Given the description of an element on the screen output the (x, y) to click on. 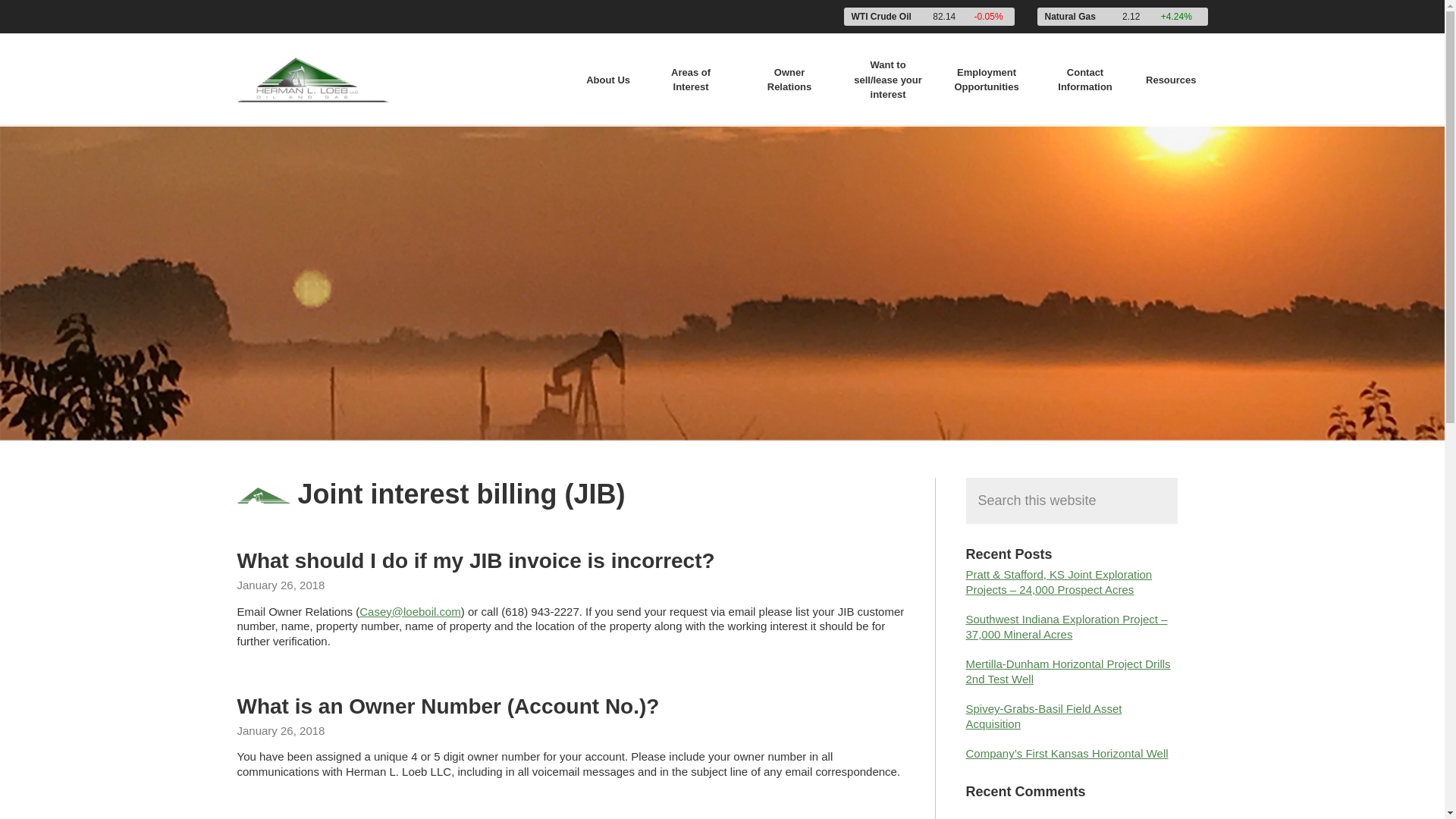
Employment Opportunities (986, 79)
Owner Relations (788, 79)
Natural Gas (1070, 16)
What should I do if my JIB invoice is incorrect? (474, 560)
WTI Crude Oil (880, 16)
Areas of Interest (690, 79)
Contact Information (1084, 79)
